Given the description of an element on the screen output the (x, y) to click on. 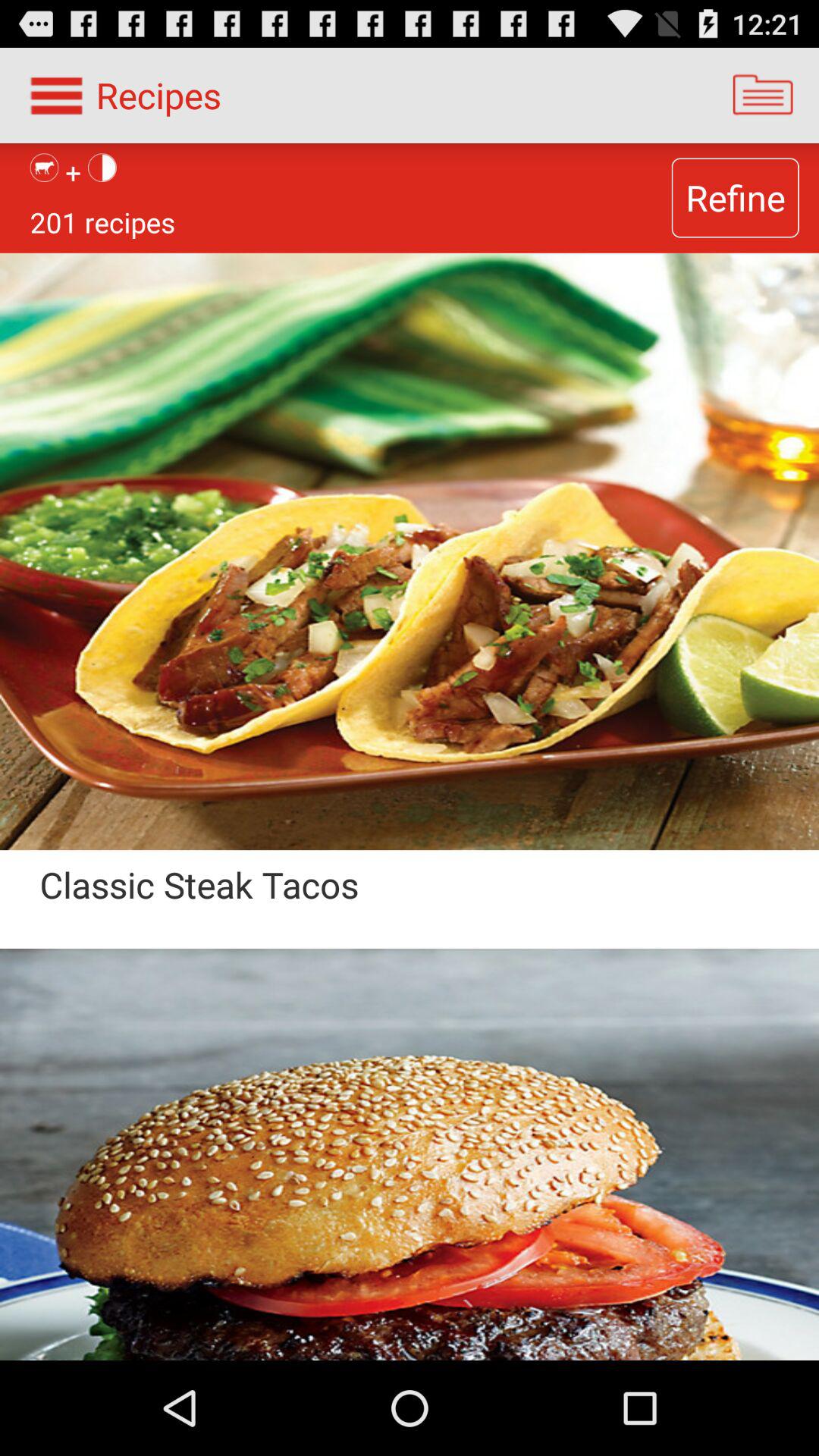
click app to the right of recipes (763, 95)
